Given the description of an element on the screen output the (x, y) to click on. 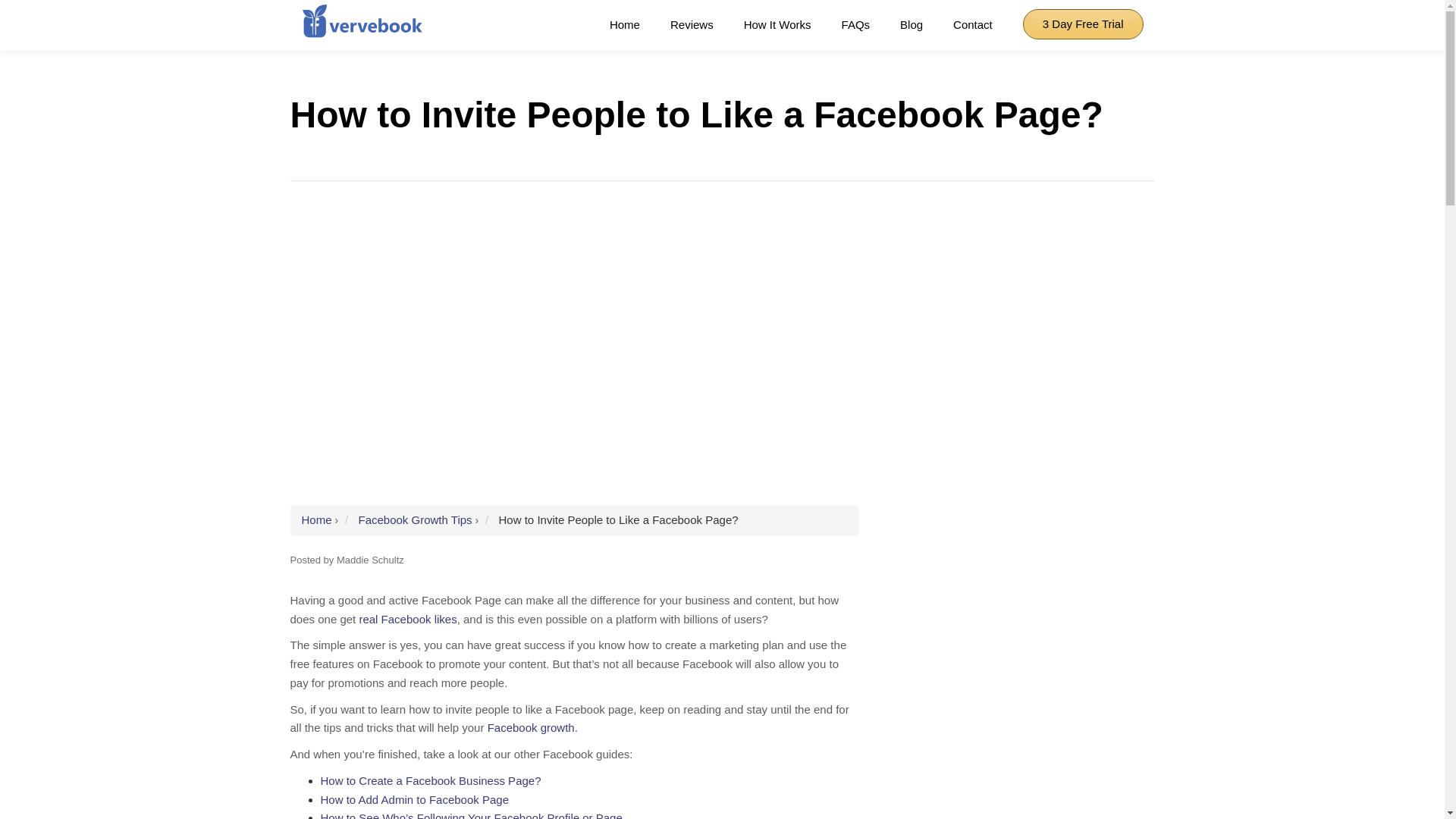
Home (625, 25)
Contact (972, 25)
real Facebook likes (407, 618)
Facebook growth. (532, 727)
Reviews (691, 25)
3 Day Free Trial (1082, 24)
Blog (911, 25)
How It Works (777, 25)
Facebook Growth Tips (414, 519)
FAQs (855, 25)
Home (316, 519)
Posts by Maddie Schultz (370, 559)
How to Create a Facebook Business Page? (430, 780)
Maddie Schultz (370, 559)
How to Add Admin to Facebook Page (414, 799)
